Given the description of an element on the screen output the (x, y) to click on. 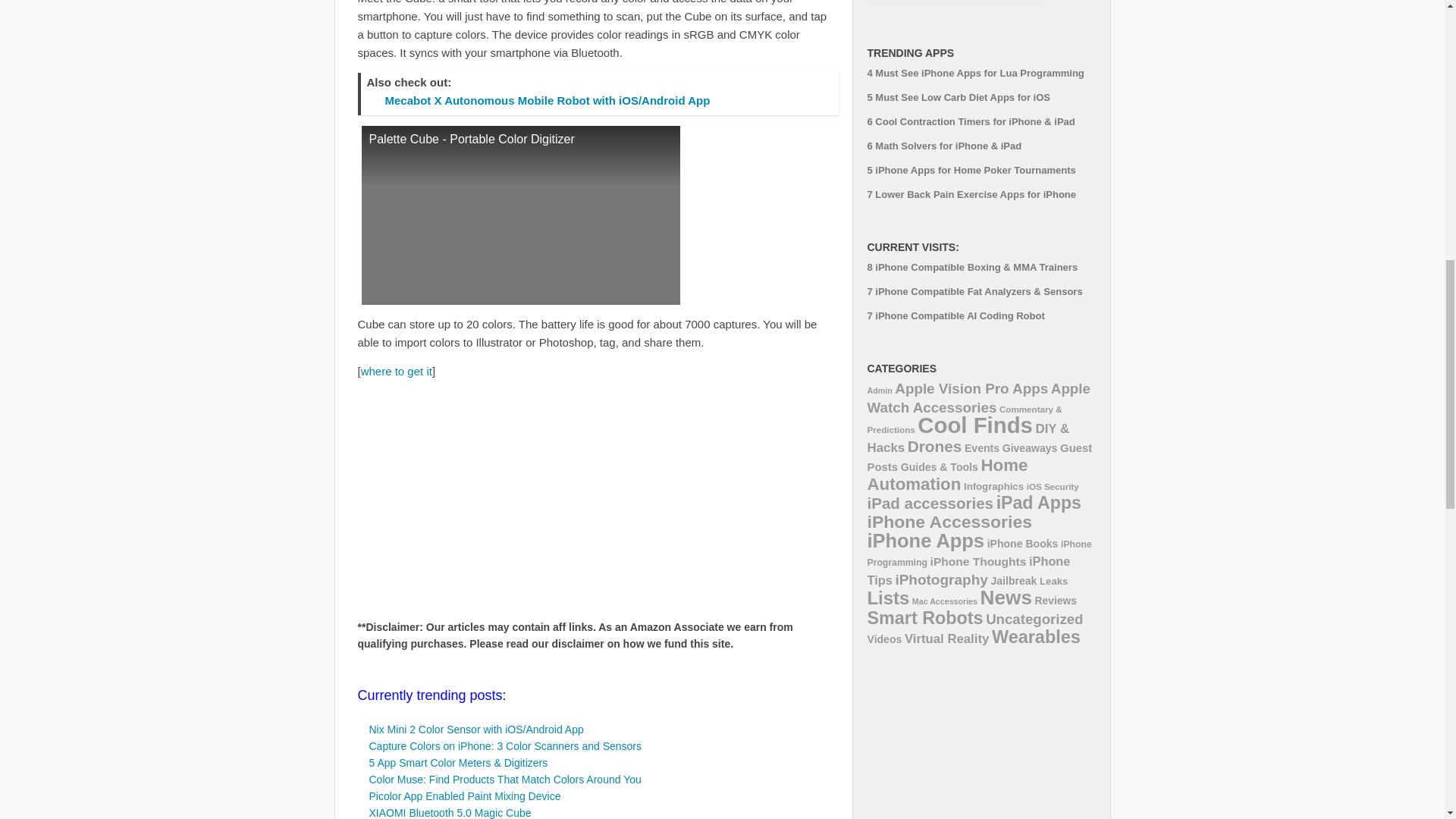
Capture Colors on iPhone: 3 Color Scanners and Sensors (505, 746)
Palette Cube - Portable Color Digitizer (520, 215)
Advertisement (485, 495)
